Given the description of an element on the screen output the (x, y) to click on. 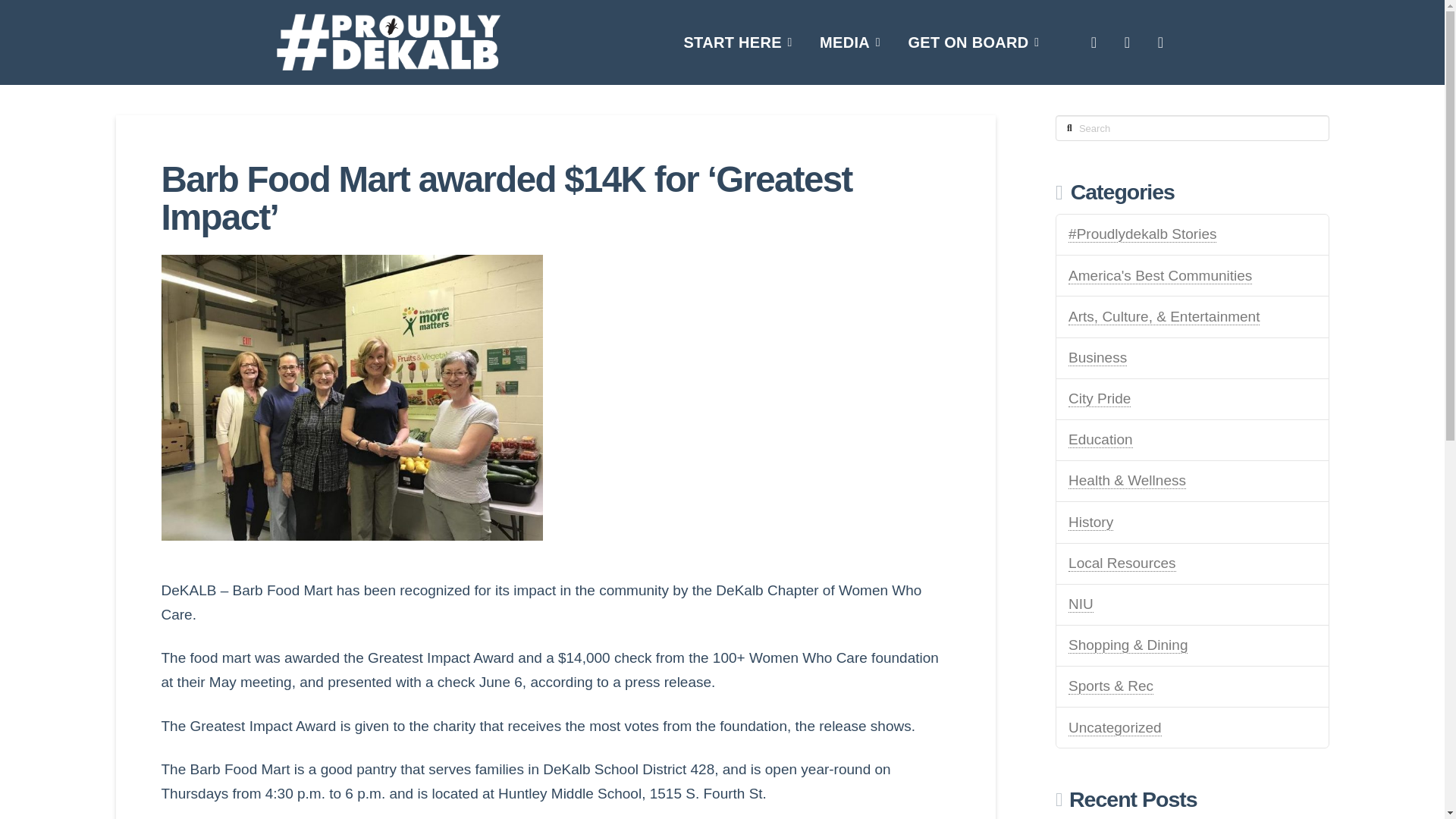
MEDIA (850, 42)
Local Resources (1122, 563)
Education (1100, 439)
START HERE (737, 42)
GET ON BOARD (972, 42)
History (1090, 522)
Business (1097, 357)
NIU (1080, 604)
America's Best Communities (1160, 275)
City Pride (1099, 398)
Uncategorized (1114, 727)
